Given the description of an element on the screen output the (x, y) to click on. 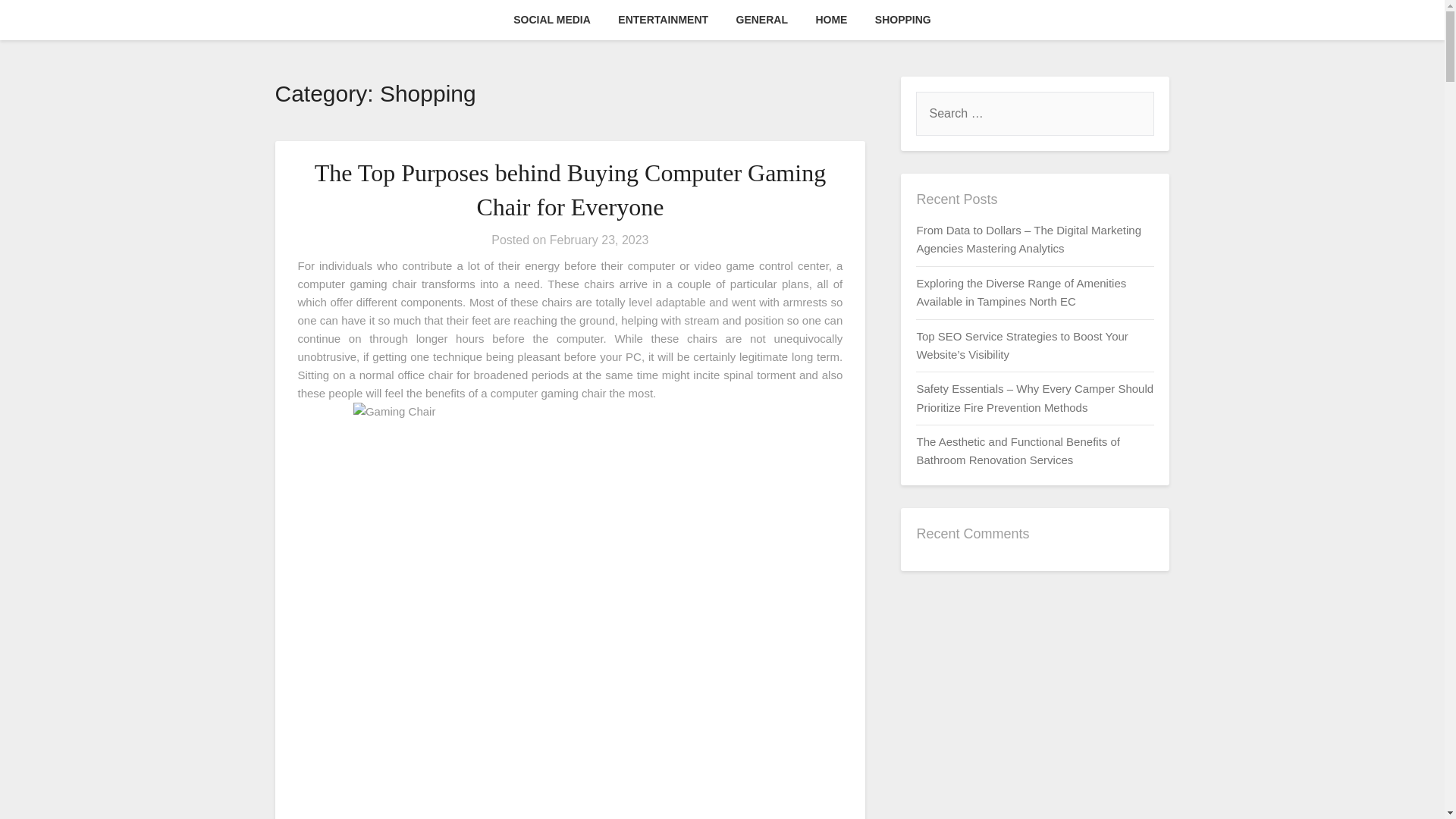
HOME (831, 20)
GENERAL (761, 20)
ENTERTAINMENT (662, 20)
SHOPPING (903, 20)
February 23, 2023 (599, 239)
SOCIAL MEDIA (551, 20)
